Given the description of an element on the screen output the (x, y) to click on. 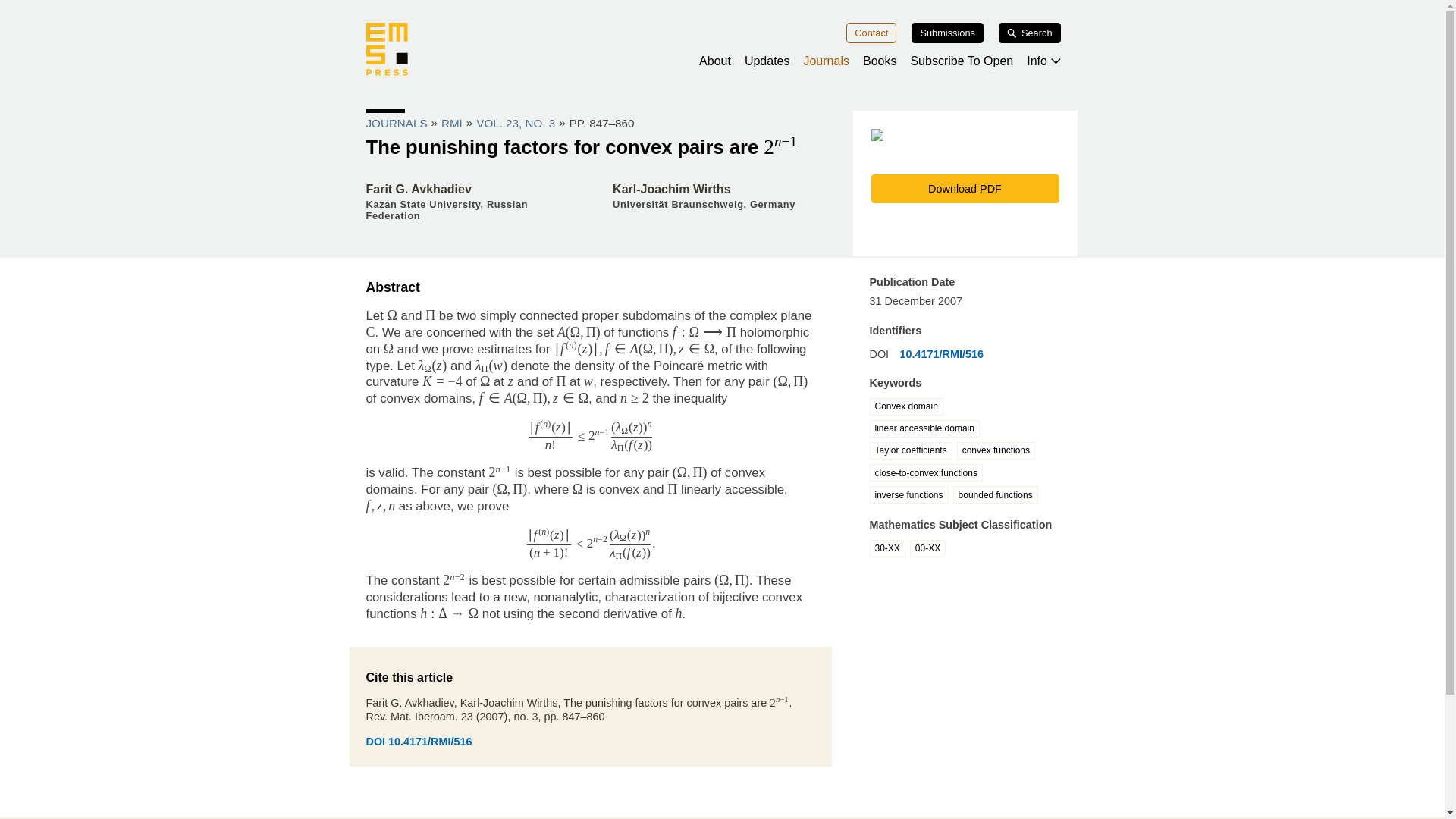
Journals (825, 60)
Search (1029, 32)
About (714, 60)
VOL. 23, NO. 3 (515, 123)
Info (1042, 60)
RMI (452, 123)
JOURNALS (395, 123)
Contact (870, 32)
Subscribe To Open (961, 60)
Main Navigation (721, 47)
Books (879, 60)
Download PDF (964, 188)
Submissions (947, 32)
Updates (767, 60)
